Given the description of an element on the screen output the (x, y) to click on. 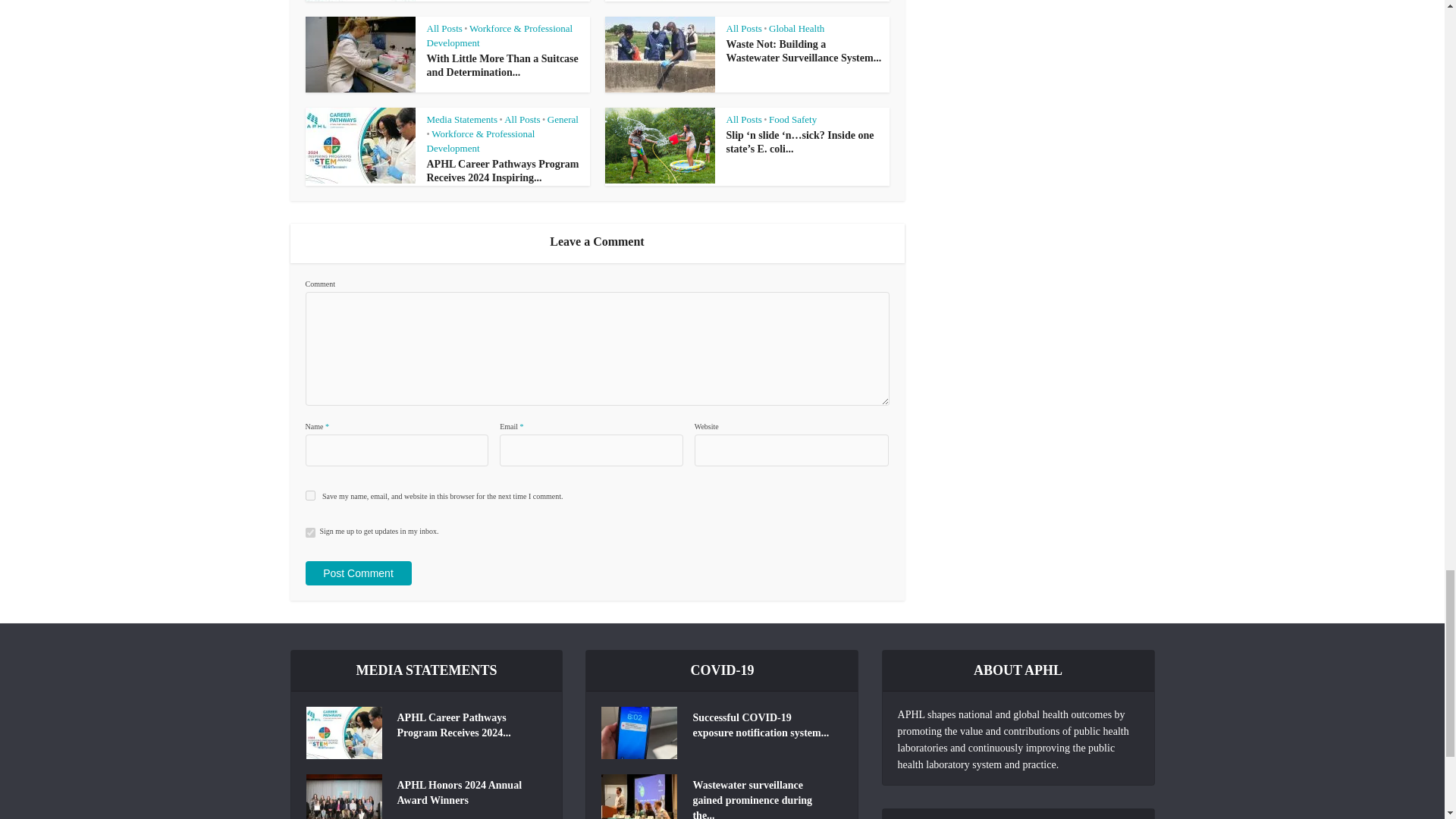
1 (309, 532)
yes (309, 495)
Post Comment (357, 573)
